Given the description of an element on the screen output the (x, y) to click on. 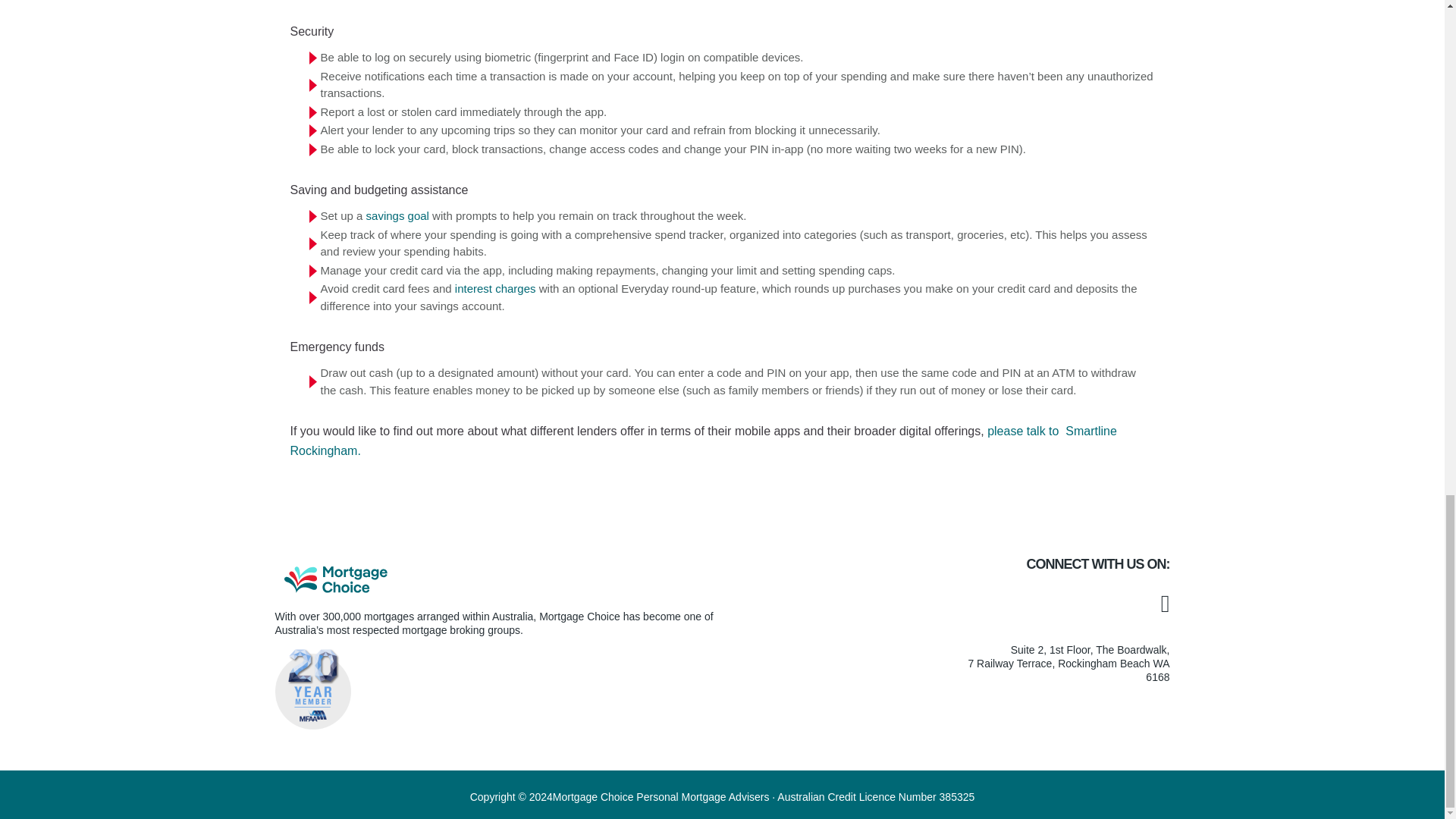
savings goal (395, 215)
please talk to  Smartline Rockingham. (702, 441)
interest charges (494, 287)
